Given the description of an element on the screen output the (x, y) to click on. 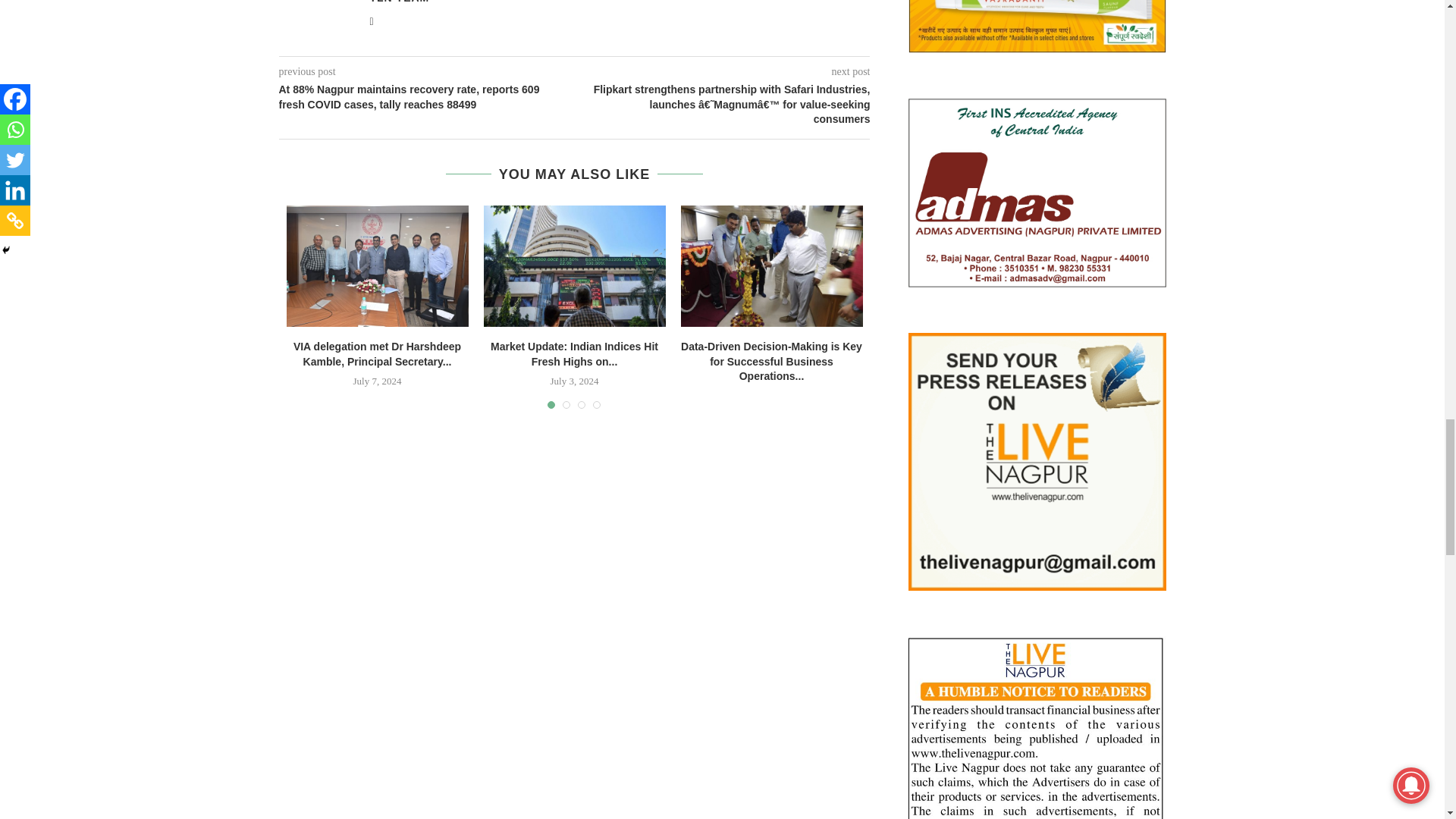
Posts by TLN Team (399, 2)
